Given the description of an element on the screen output the (x, y) to click on. 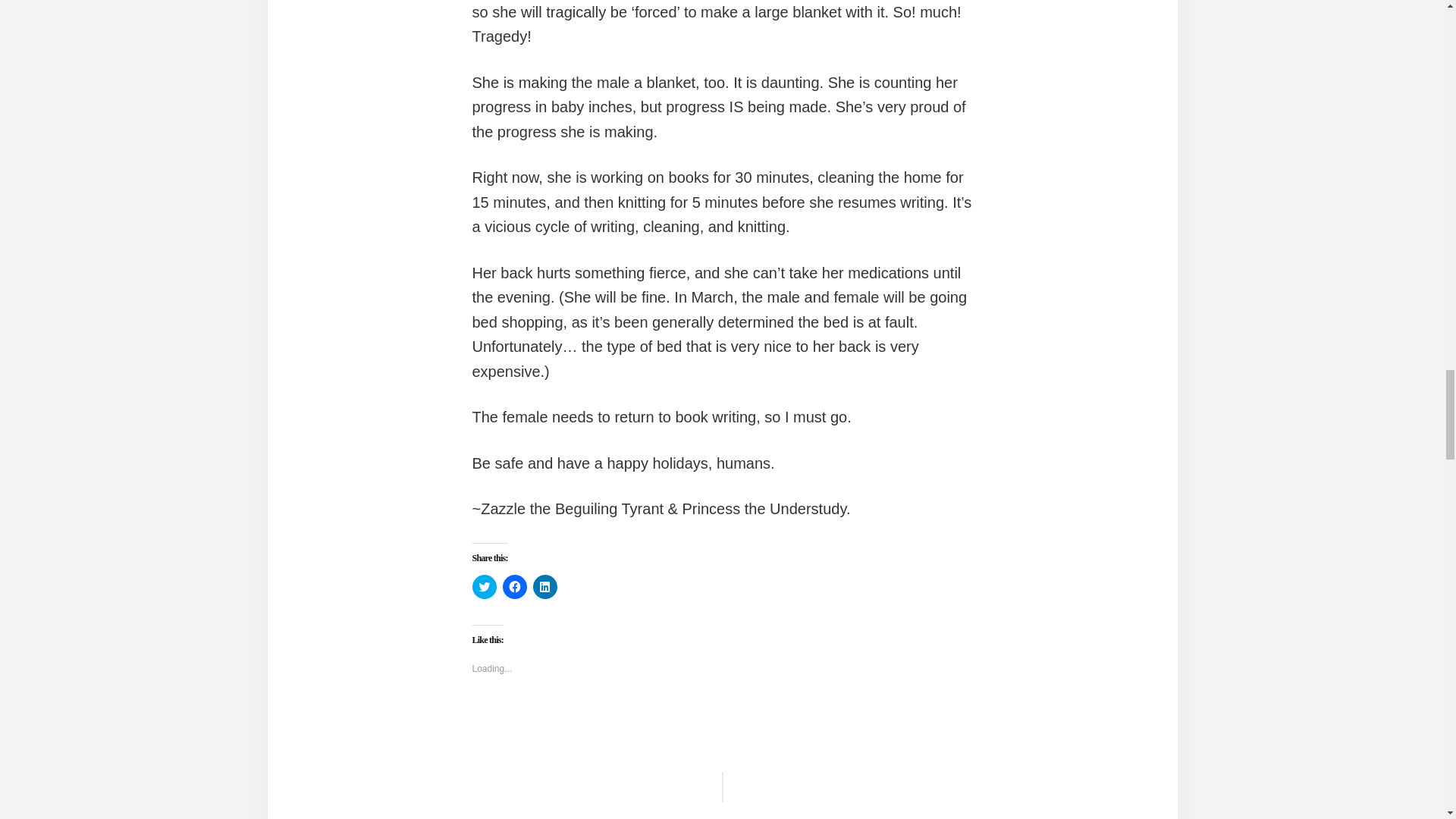
Click to share on LinkedIn (544, 586)
Click to share on Facebook (513, 586)
Click to share on Twitter (483, 586)
